Given the description of an element on the screen output the (x, y) to click on. 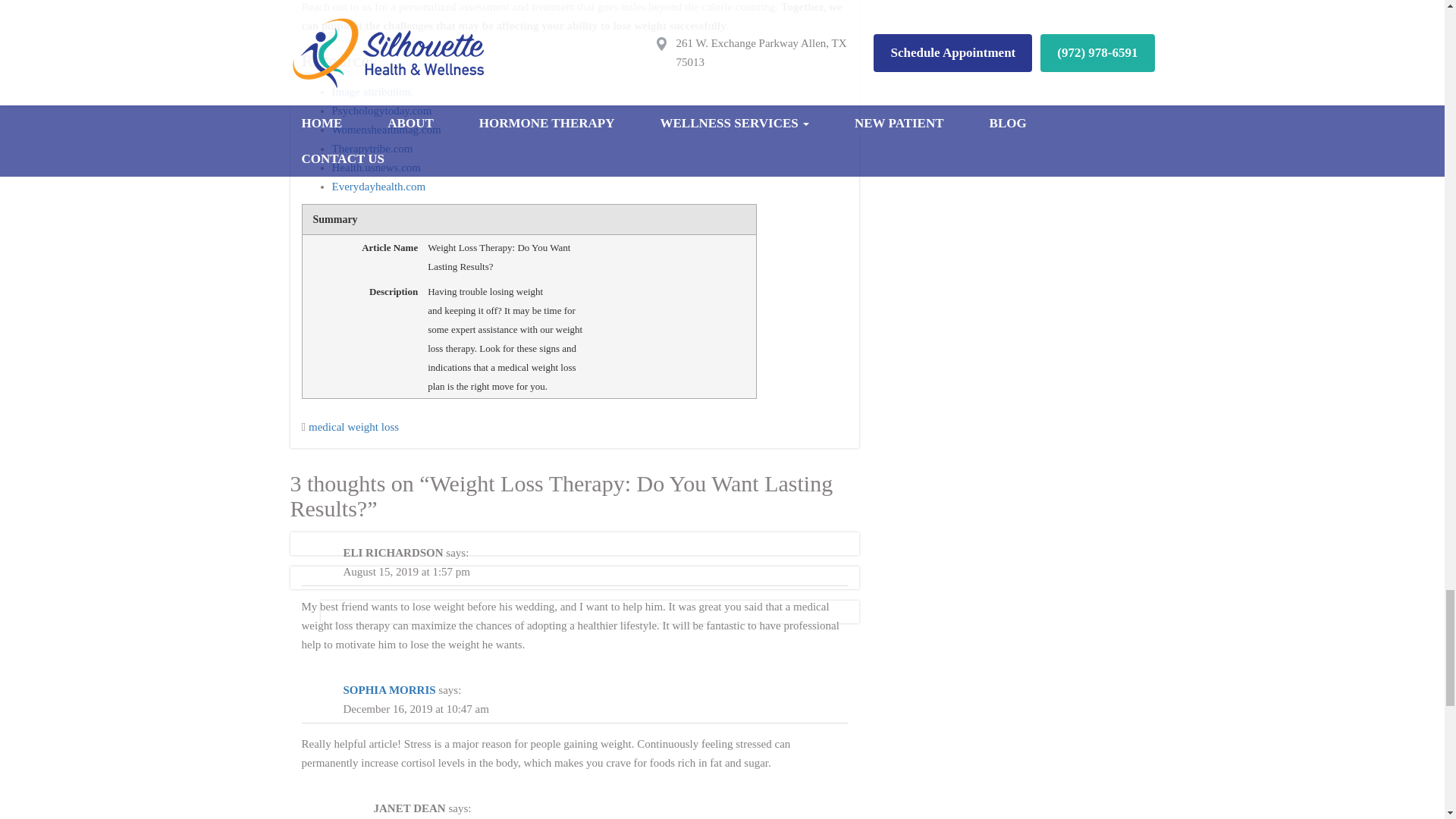
medical weight loss (353, 426)
SOPHIA MORRIS (388, 690)
August 15, 2019 at 1:57 pm (406, 571)
Womenshealthmag.com (386, 129)
Health.usnews.com (375, 167)
Everydayhealth.com (378, 186)
December 16, 2019 at 10:47 am (414, 709)
Image attribution (370, 91)
Therapytribe.com (372, 148)
